Given the description of an element on the screen output the (x, y) to click on. 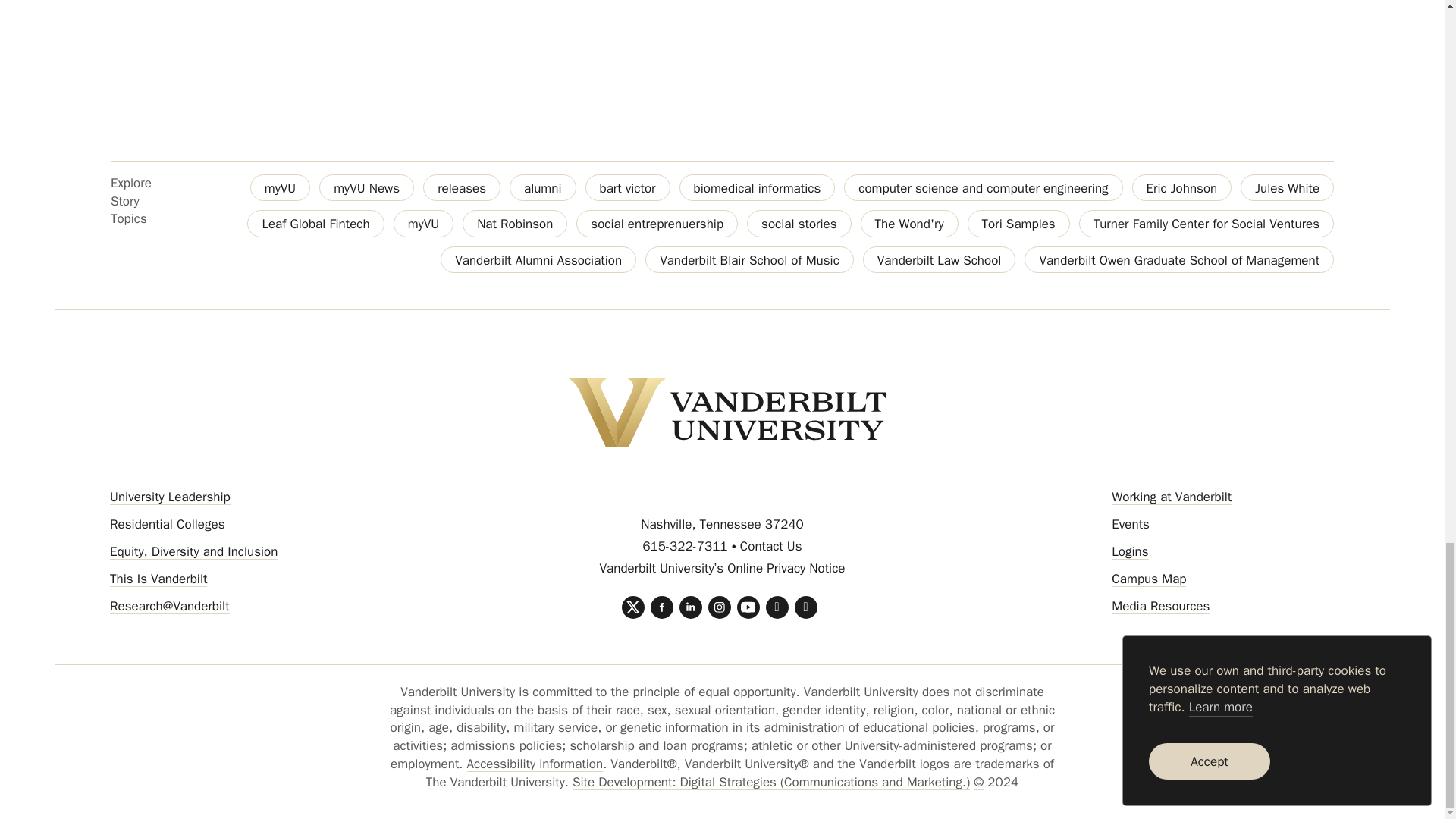
releases (461, 187)
myVU News (365, 187)
myVU (280, 187)
alumni (542, 187)
